Given the description of an element on the screen output the (x, y) to click on. 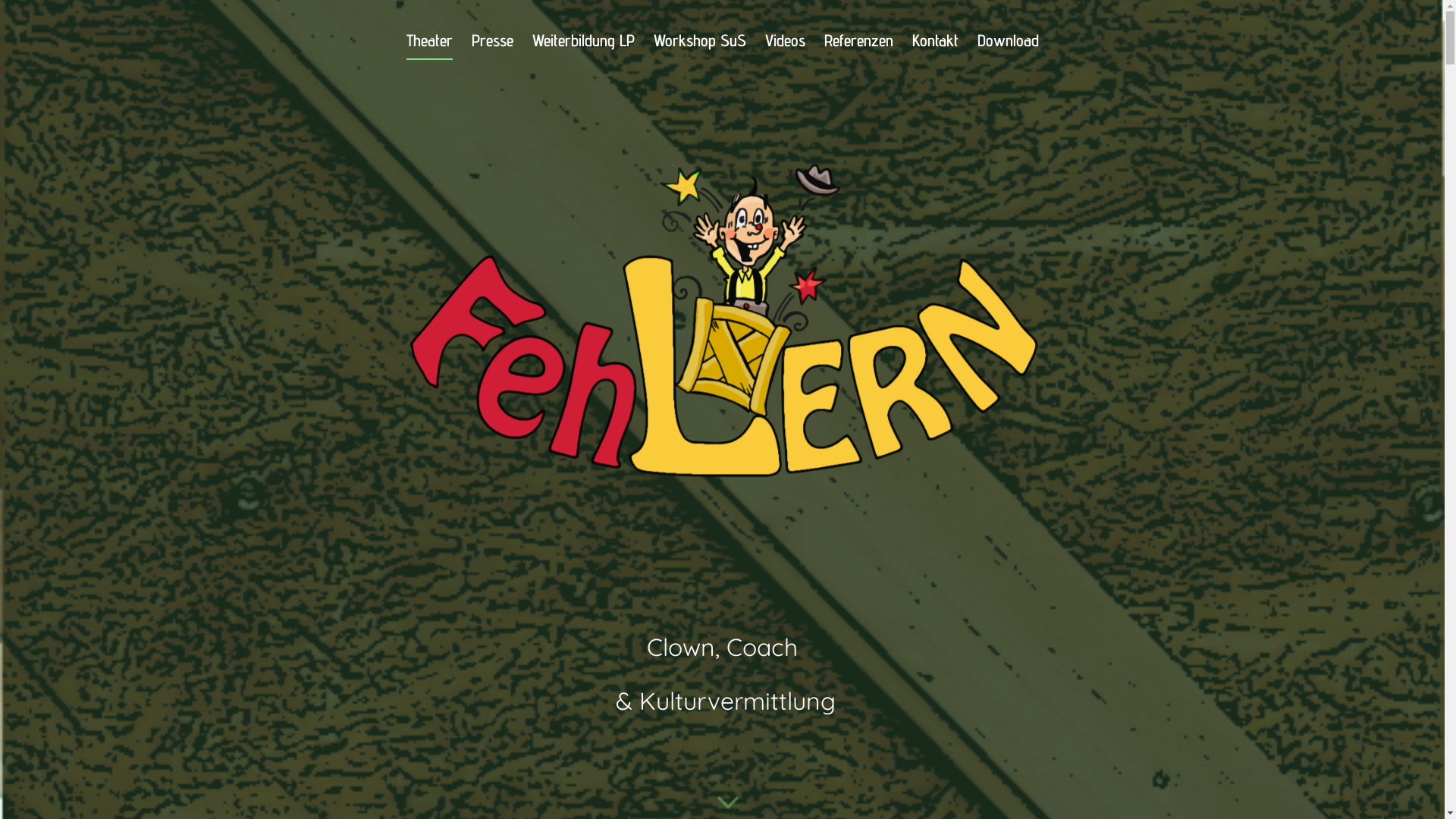
Workshop SuS Element type: text (699, 44)
Weiterbildung LP Element type: text (583, 44)
Theater Element type: text (429, 44)
Referenzen Element type: text (857, 44)
Videos Element type: text (784, 44)
Presse Element type: text (492, 44)
Download Element type: text (1007, 44)
Kontakt Element type: text (934, 44)
